Given the description of an element on the screen output the (x, y) to click on. 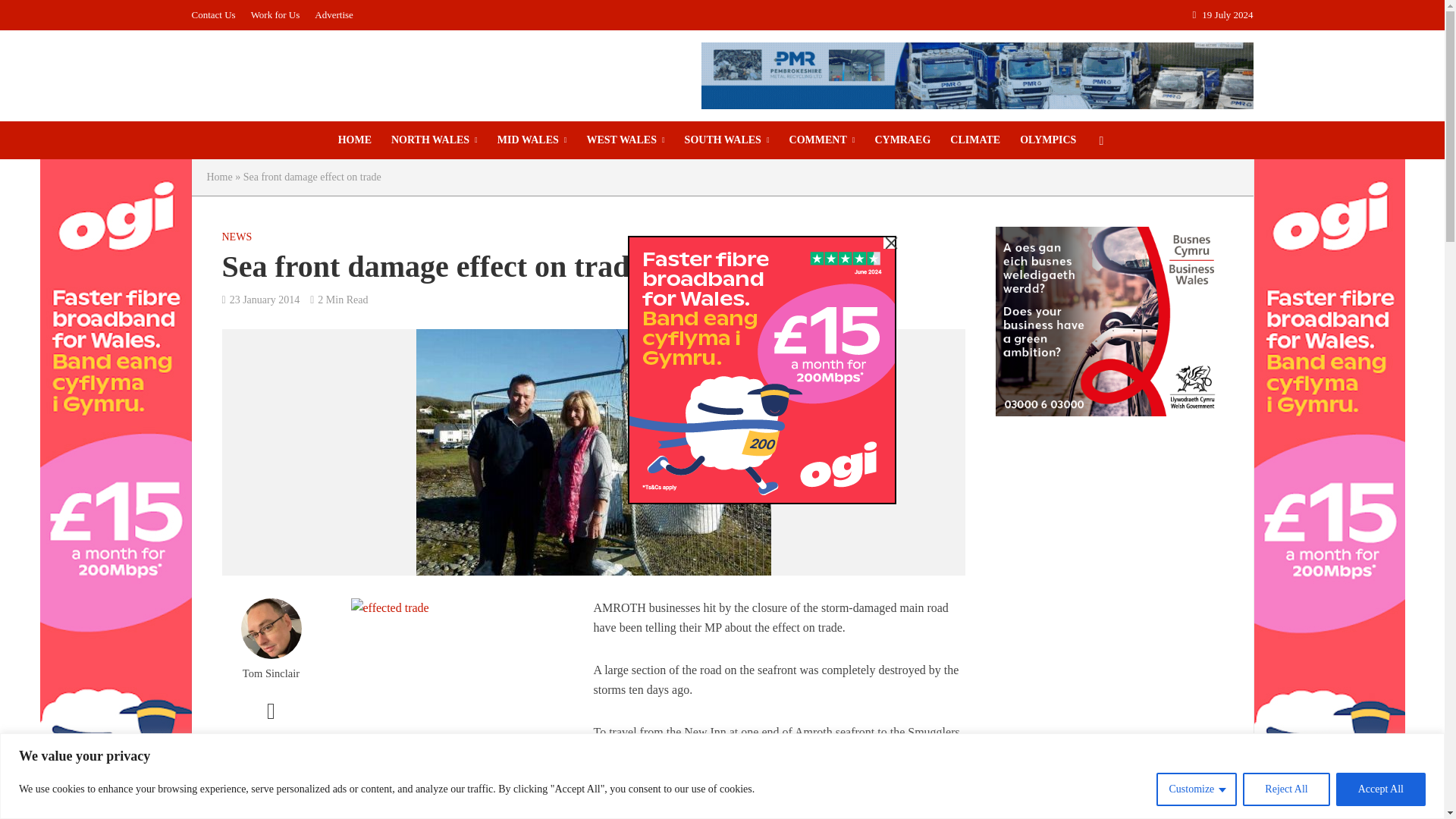
HOME (355, 139)
MID WALES (531, 139)
Customize (1196, 788)
Reject All (1286, 788)
Work for Us (275, 15)
Advertise (334, 15)
Accept All (1380, 788)
Contact Us (216, 15)
SOUTH WALES (726, 139)
WEST WALES (625, 139)
NORTH WALES (434, 139)
